Given the description of an element on the screen output the (x, y) to click on. 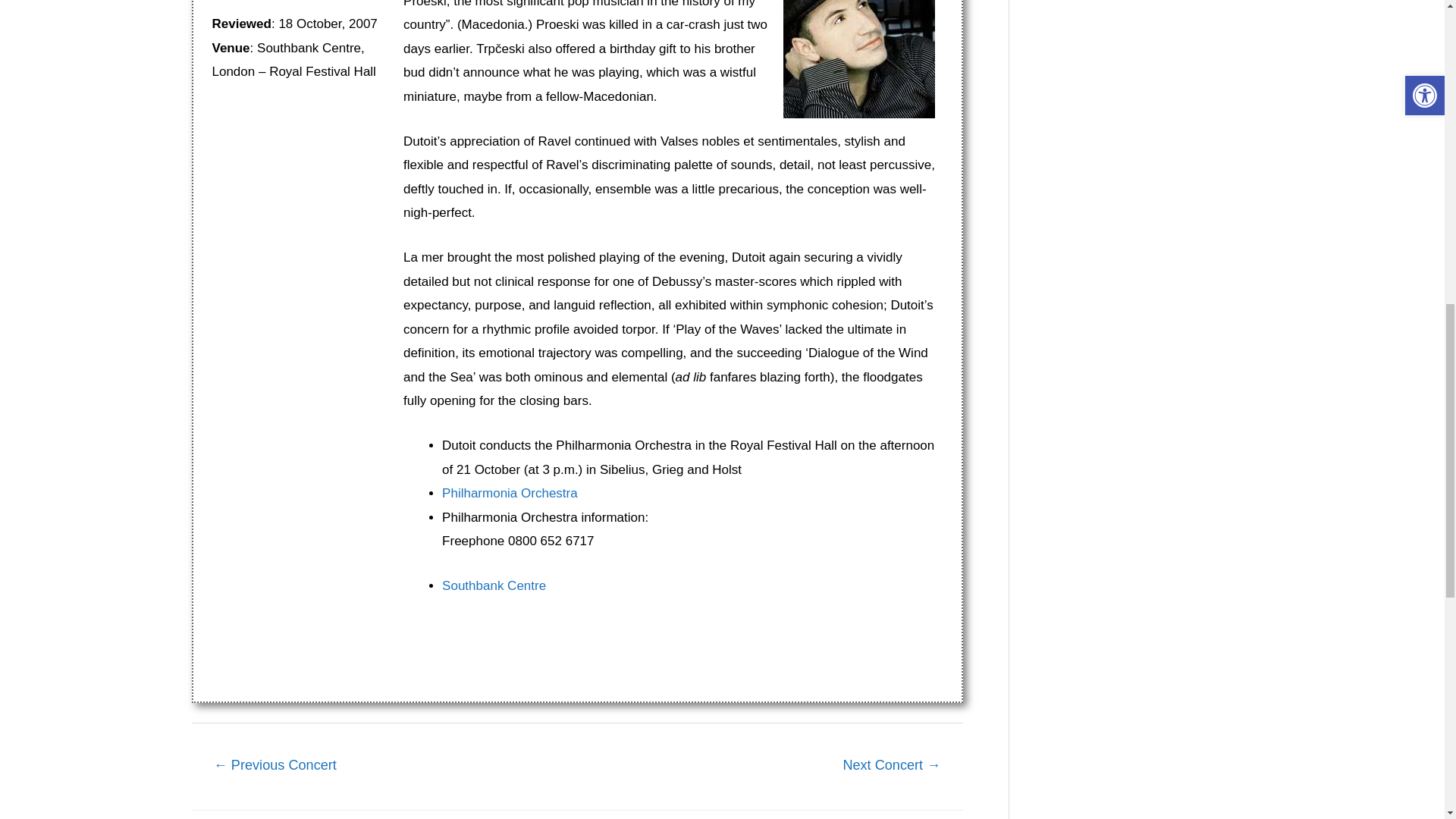
Southbank Centre (494, 585)
Philharmonia Orchestra (510, 493)
LPO Richard Strauss (891, 766)
